Given the description of an element on the screen output the (x, y) to click on. 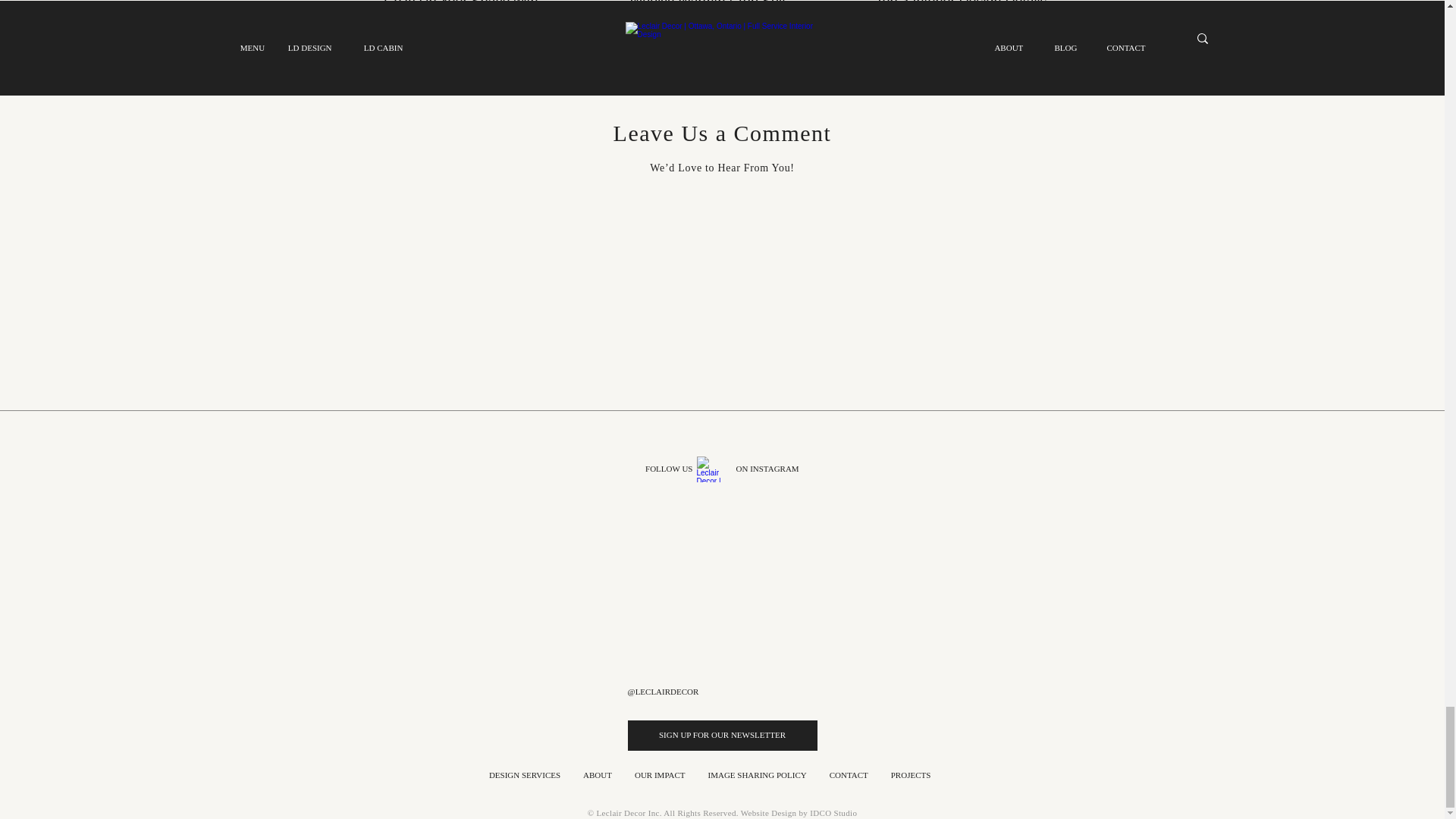
ON INSTAGRAM (771, 468)
Top 3 Interior Design Details in the LD Cabin Grand Room (966, 12)
SIGN UP FOR OUR NEWSLETTER (721, 735)
FOLLOW US (662, 468)
